Given the description of an element on the screen output the (x, y) to click on. 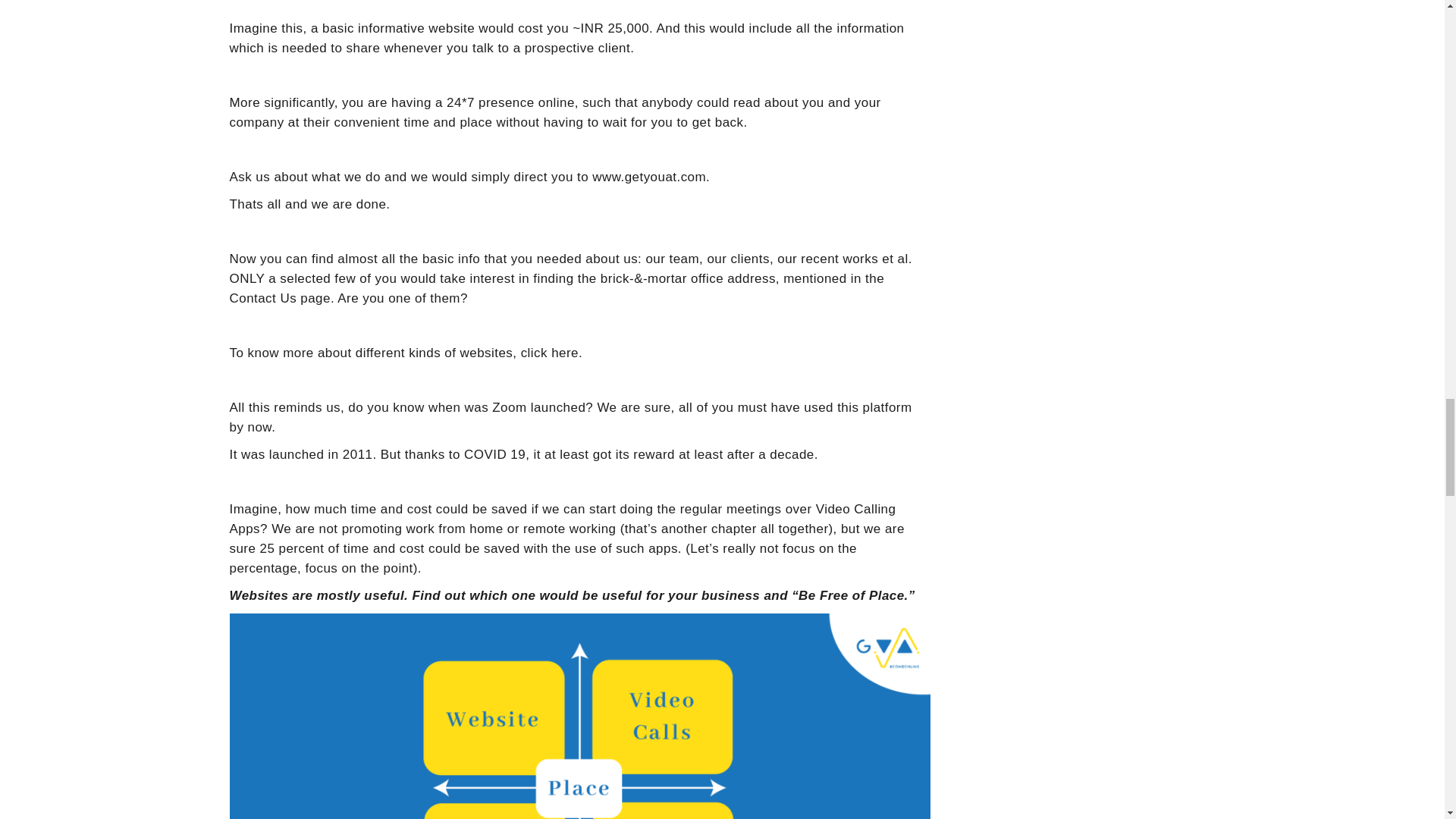
click here (549, 352)
www.getyouat.com (649, 176)
